Given the description of an element on the screen output the (x, y) to click on. 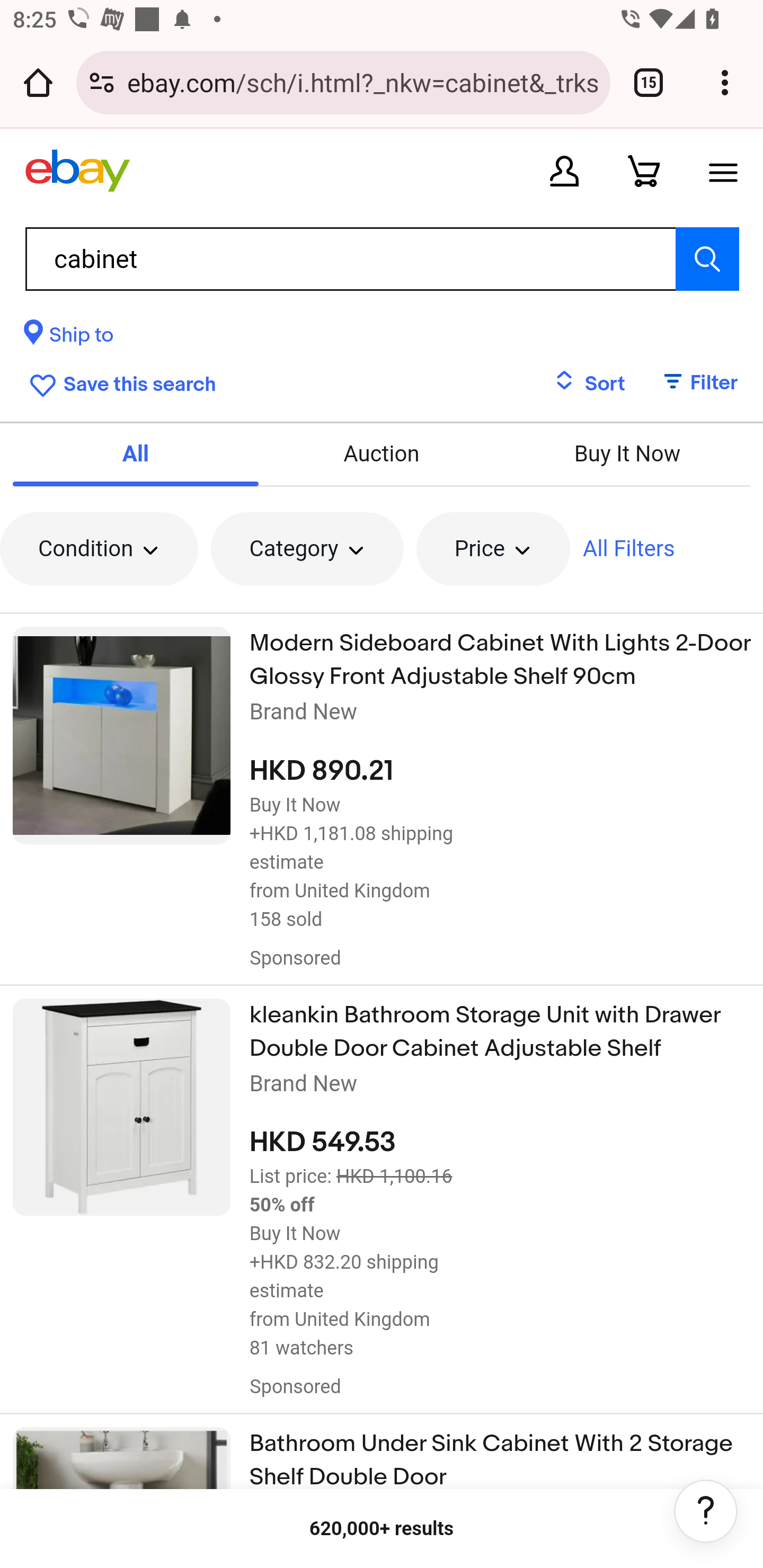
Open the home page (38, 82)
Connection is secure (101, 82)
Switch or close tabs (648, 82)
Customize and control Google Chrome (724, 82)
Open Menu (723, 170)
My eBay (564, 170)
Your shopping cart is empty (643, 170)
eBay Home (77, 170)
cabinet (381, 258)
Search (707, 258)
Ship to  (68, 338)
Sort (589, 384)
Filter (690, 384)
Save this search cabinet search (118, 382)
All selected (135, 453)
Auction (381, 453)
Buy It Now (626, 453)
Condition (99, 548)
Category (306, 548)
Price (492, 548)
All Filters (628, 548)
Help (705, 1511)
